Given the description of an element on the screen output the (x, y) to click on. 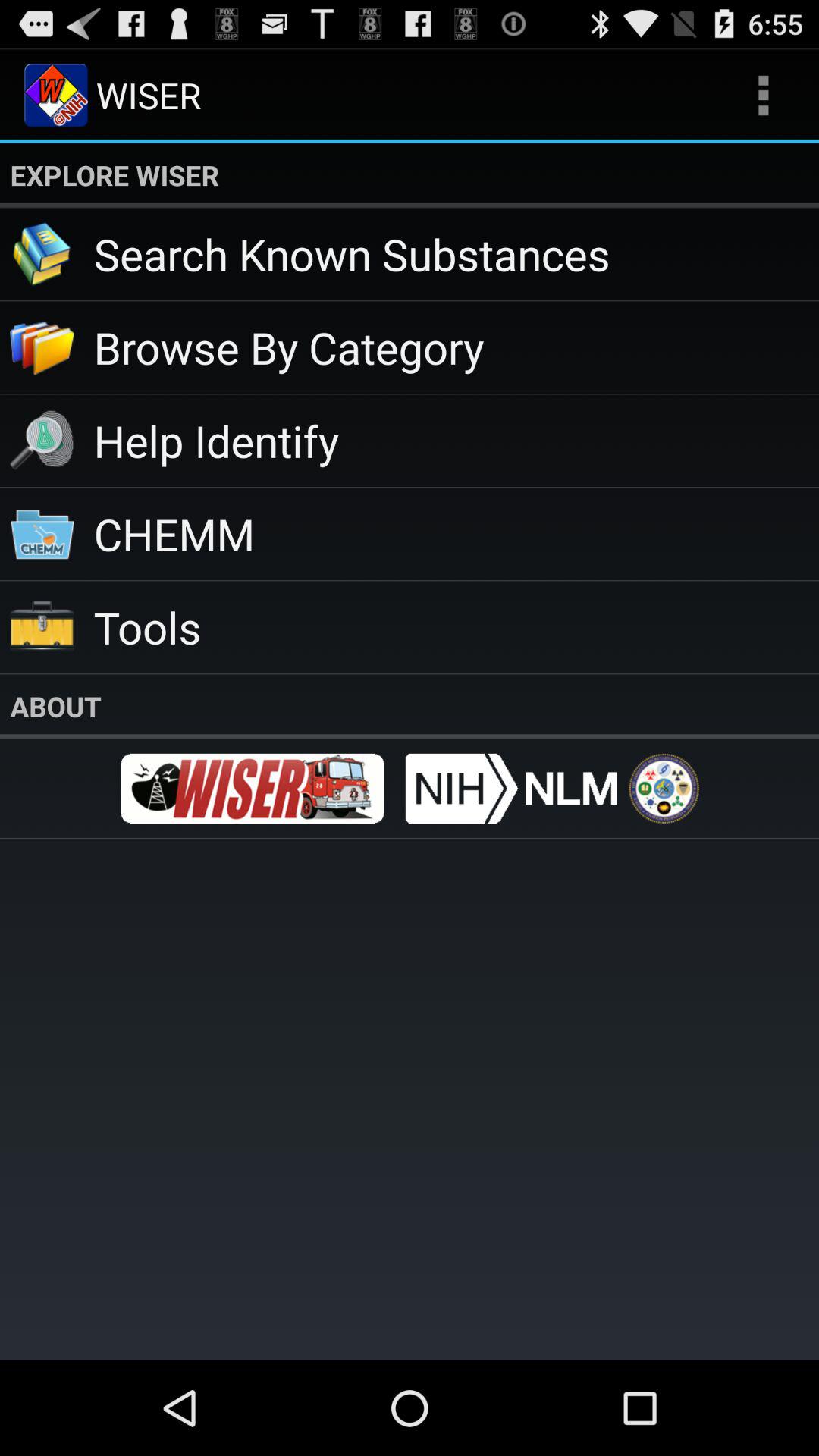
tap the app to the right of wiser item (763, 95)
